Given the description of an element on the screen output the (x, y) to click on. 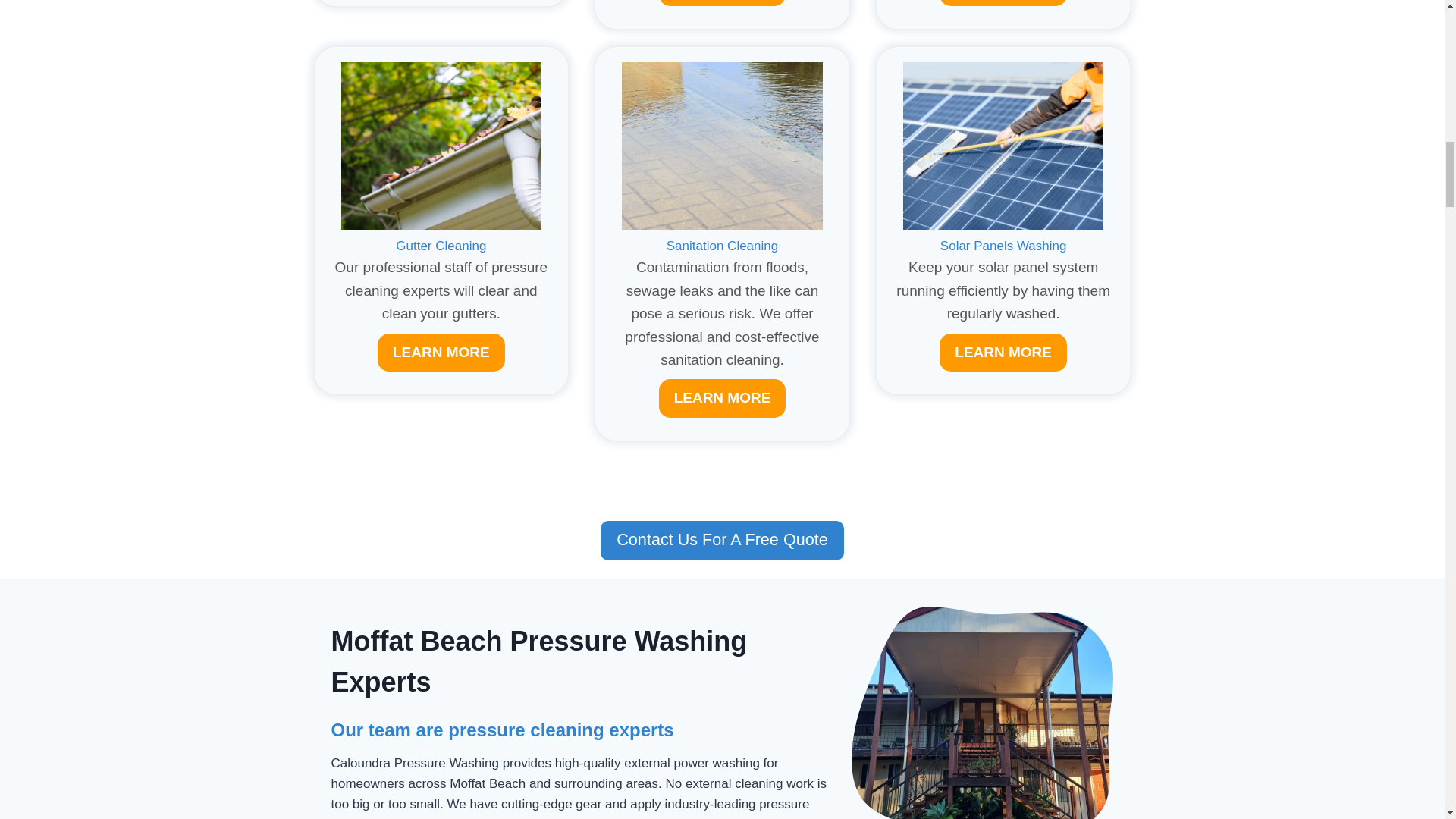
Contact Us For A Free Quote (721, 540)
